Given the description of an element on the screen output the (x, y) to click on. 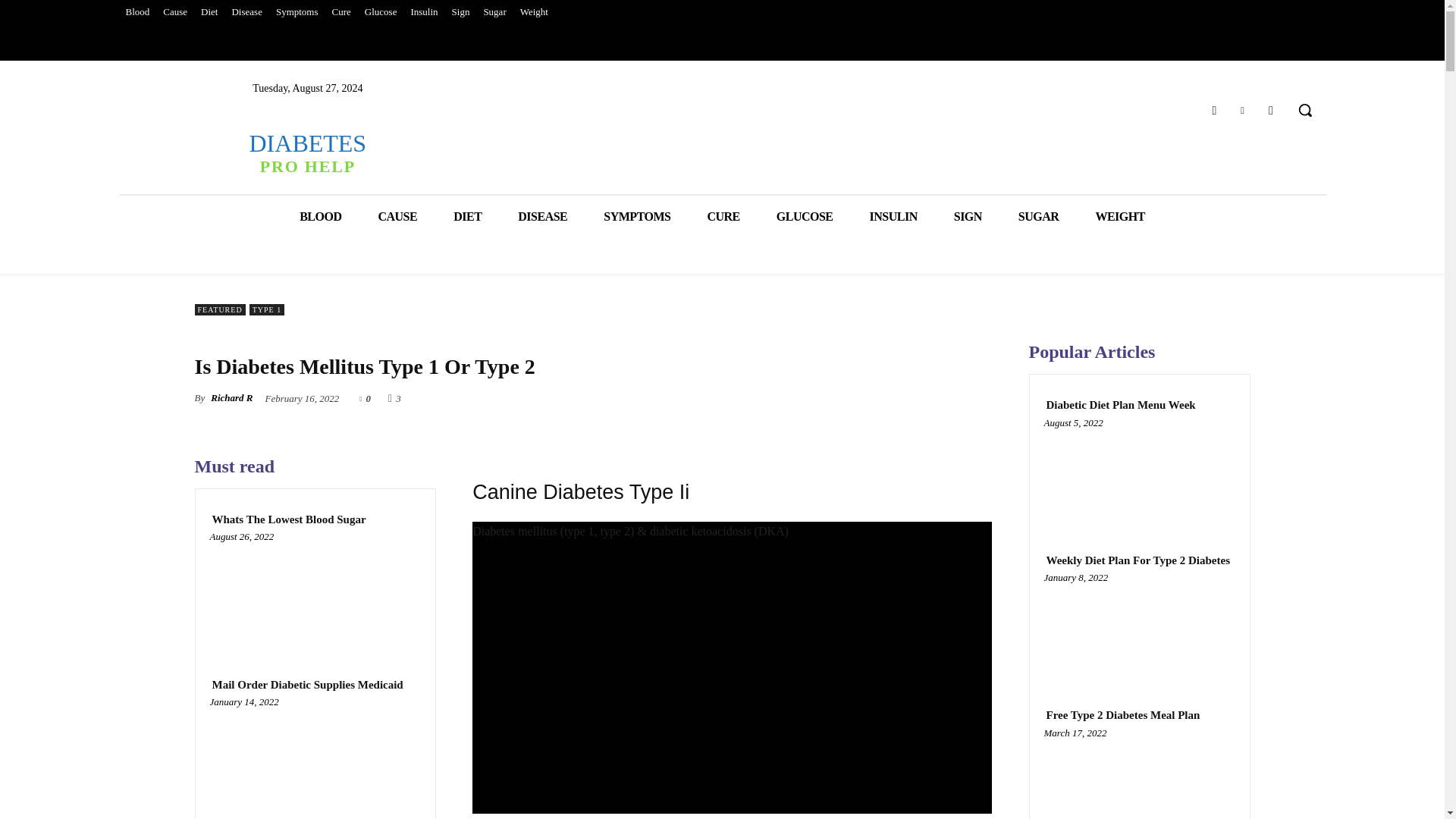
INSULIN (893, 216)
BLOOD (320, 216)
Whats The Lowest Blood Sugar (314, 592)
WEIGHT (1119, 216)
CURE (722, 216)
DISEASE (542, 216)
Facebook (1214, 109)
Sugar (494, 12)
DIET (467, 216)
Diet (208, 12)
